Given the description of an element on the screen output the (x, y) to click on. 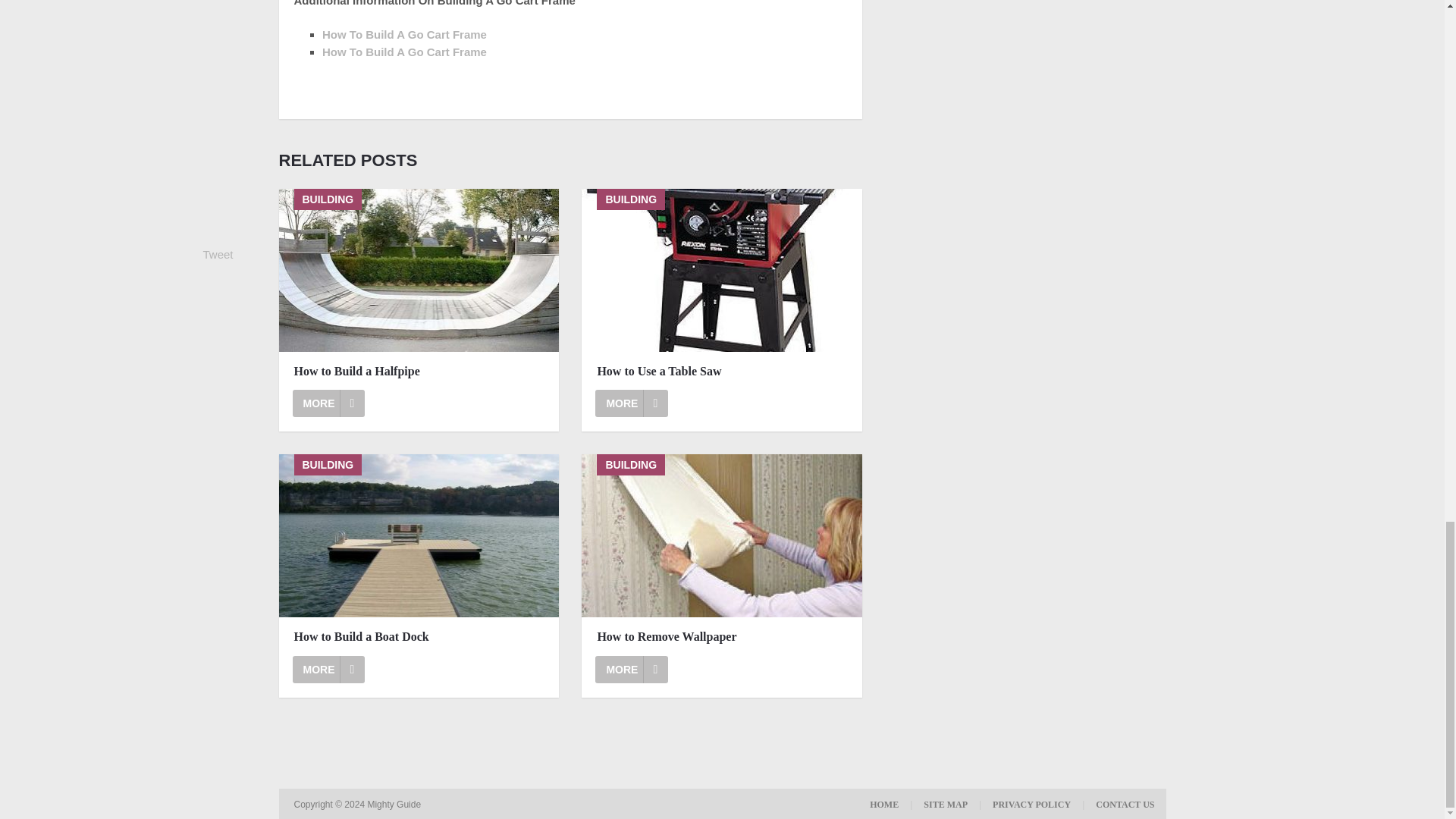
BUILDING (720, 535)
How to Build a Boat Dock (328, 669)
MORE (631, 402)
How to Remove Wallpaper (631, 669)
MORE (328, 669)
How to Remove Wallpaper (720, 535)
How to Build a Halfpipe (419, 371)
How to Use a Table Saw (720, 270)
How to Use a Table Saw (721, 371)
How to Remove Wallpaper (721, 636)
BUILDING (720, 270)
How To Build A Go Cart Frame (403, 33)
How to Build a Boat Dock (419, 636)
BUILDING (419, 270)
How to Use a Table Saw (631, 402)
